Given the description of an element on the screen output the (x, y) to click on. 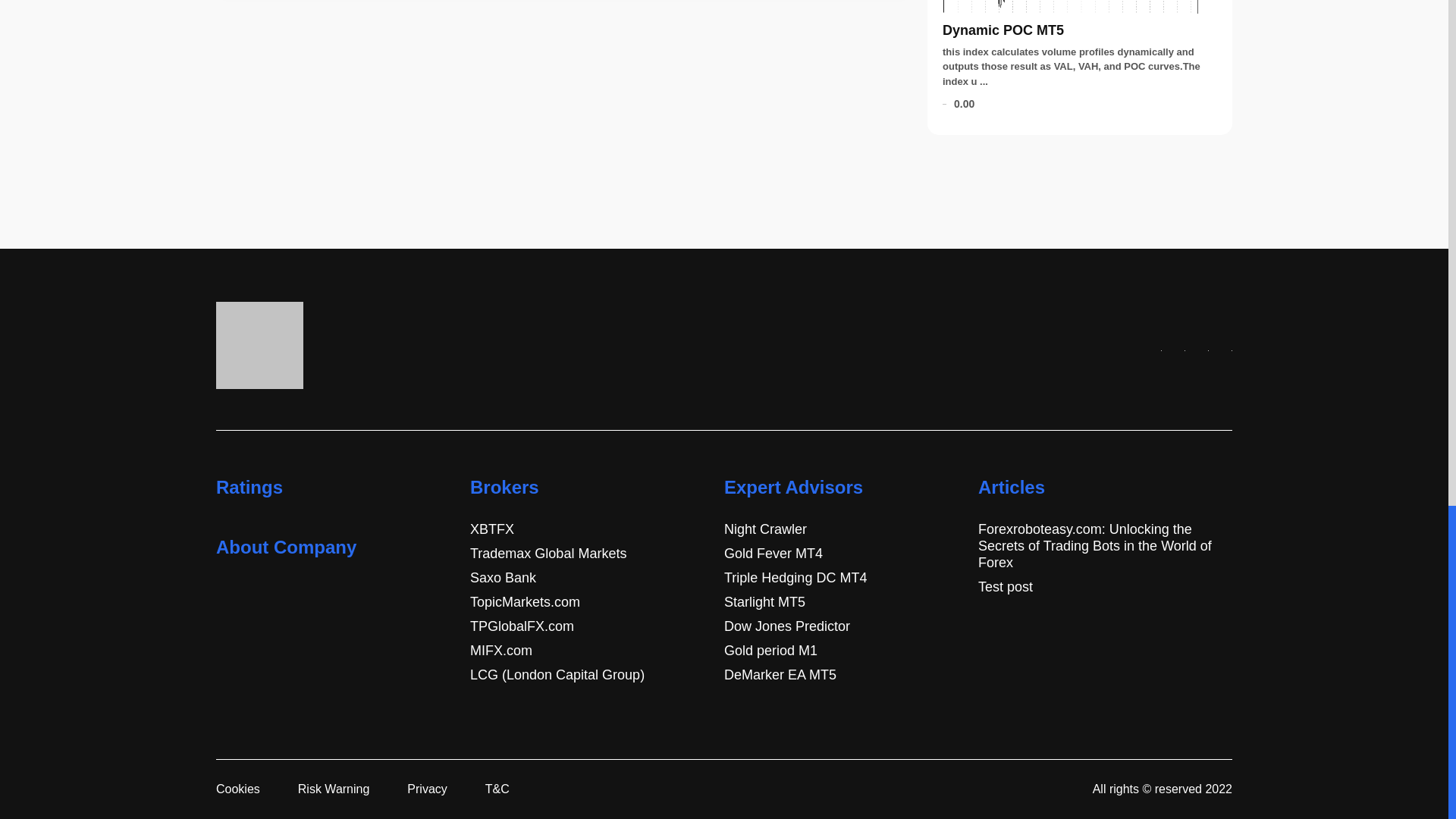
Triple Hedging DC MT4 (794, 577)
Trademax Global Markets (548, 553)
DeMarker EA MT5 (779, 674)
Gold Fever MT4 (772, 553)
Night Crawler (764, 529)
TopicMarkets.com (524, 601)
Saxo Bank (502, 577)
Starlight MT5 (764, 601)
XBTFX (491, 529)
